Given the description of an element on the screen output the (x, y) to click on. 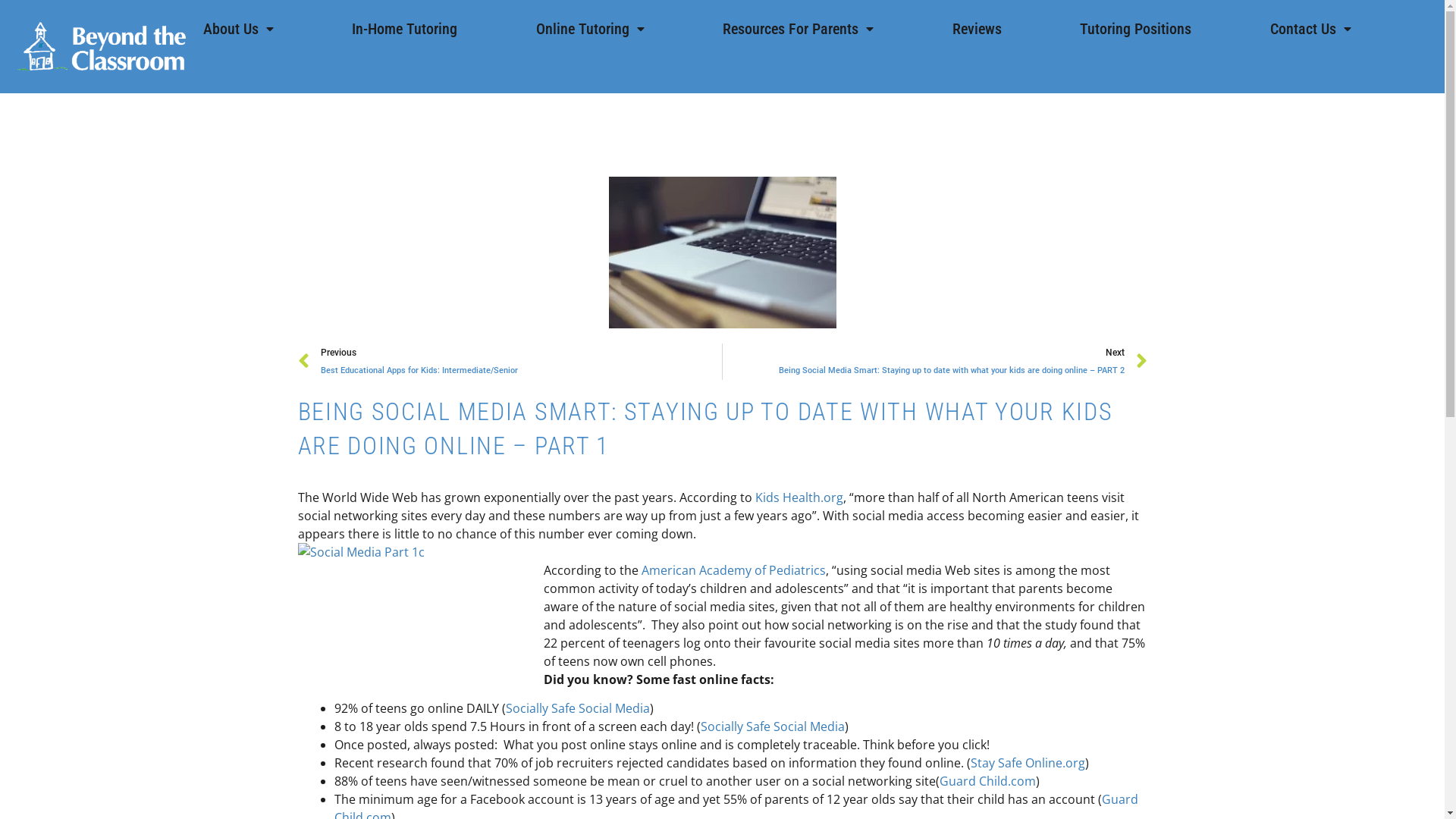
Kids Health.org Element type: text (799, 497)
Online Tutoring Element type: text (590, 28)
Tutoring Positions Element type: text (1135, 28)
Contact Us Element type: text (1310, 28)
American Academy of Pediatrics Element type: text (733, 569)
Reviews Element type: text (976, 28)
Previous
Best Educational Apps for Kids: Intermediate/Senior Element type: text (509, 361)
In-Home Tutoring Element type: text (404, 28)
Resources For Parents Element type: text (797, 28)
Guard Child.com Element type: text (986, 780)
Stay Safe Online.org Element type: text (1027, 762)
About Us Element type: text (238, 28)
Socially Safe Social Media Element type: text (577, 707)
Socially Safe Social Media Element type: text (772, 726)
